Given the description of an element on the screen output the (x, y) to click on. 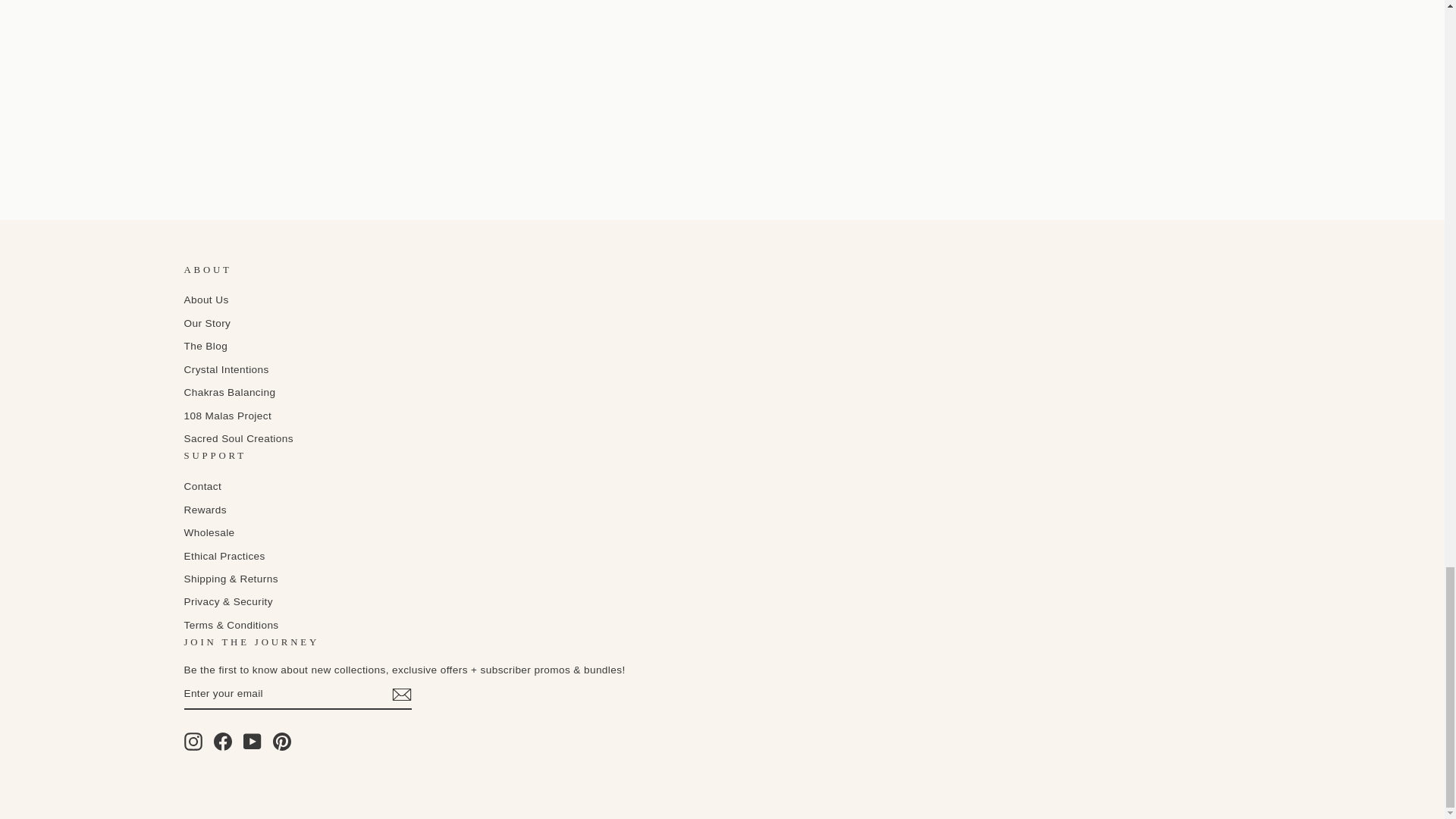
icon-email (400, 694)
Sivalya on Facebook (222, 741)
instagram (192, 741)
Sivalya on Instagram (192, 741)
Sivalya on Pinterest (282, 741)
Sivalya on YouTube (251, 741)
